Given the description of an element on the screen output the (x, y) to click on. 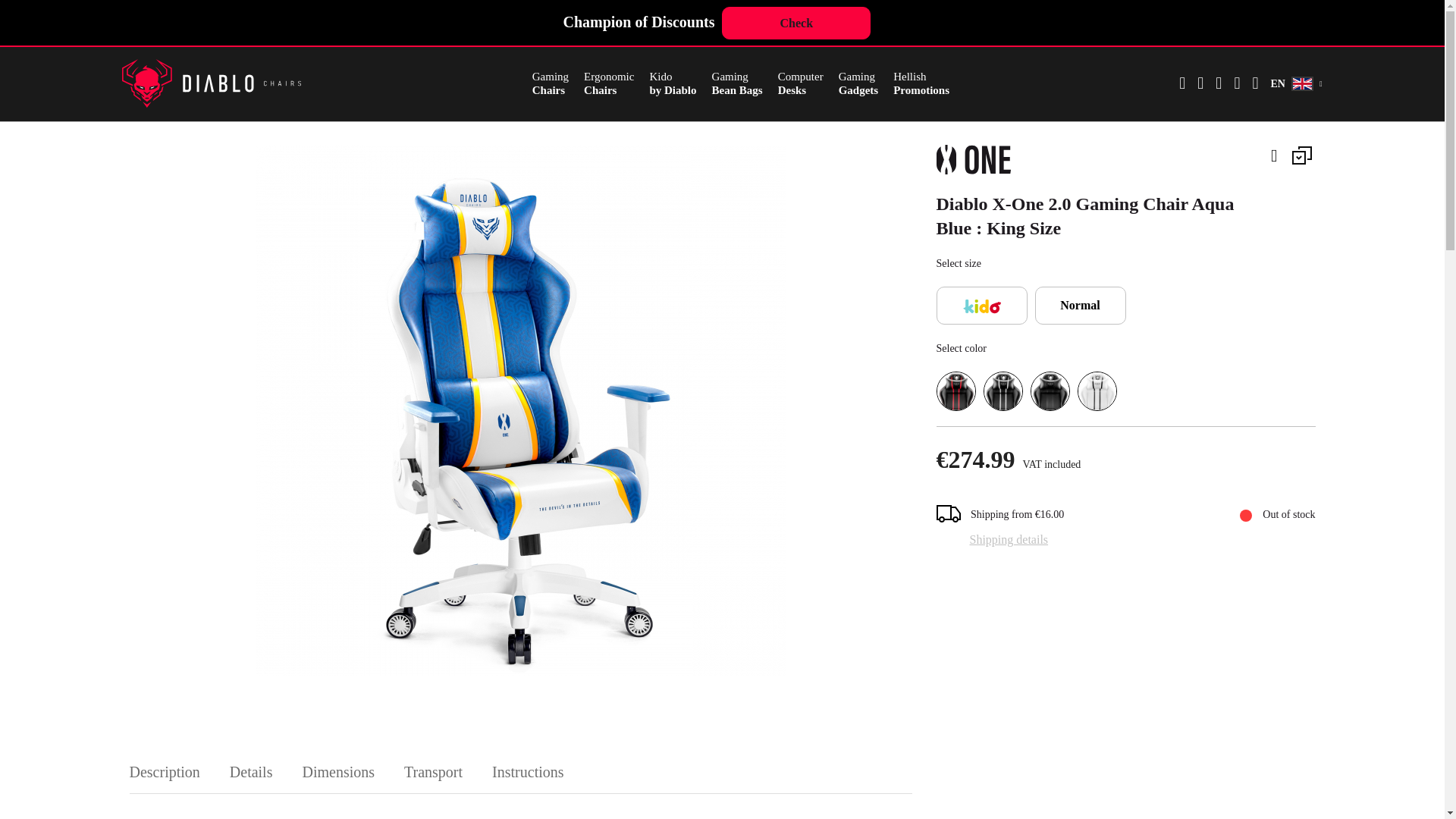
Champion of Discounts (737, 83)
Check (550, 83)
Availability (920, 83)
